Given the description of an element on the screen output the (x, y) to click on. 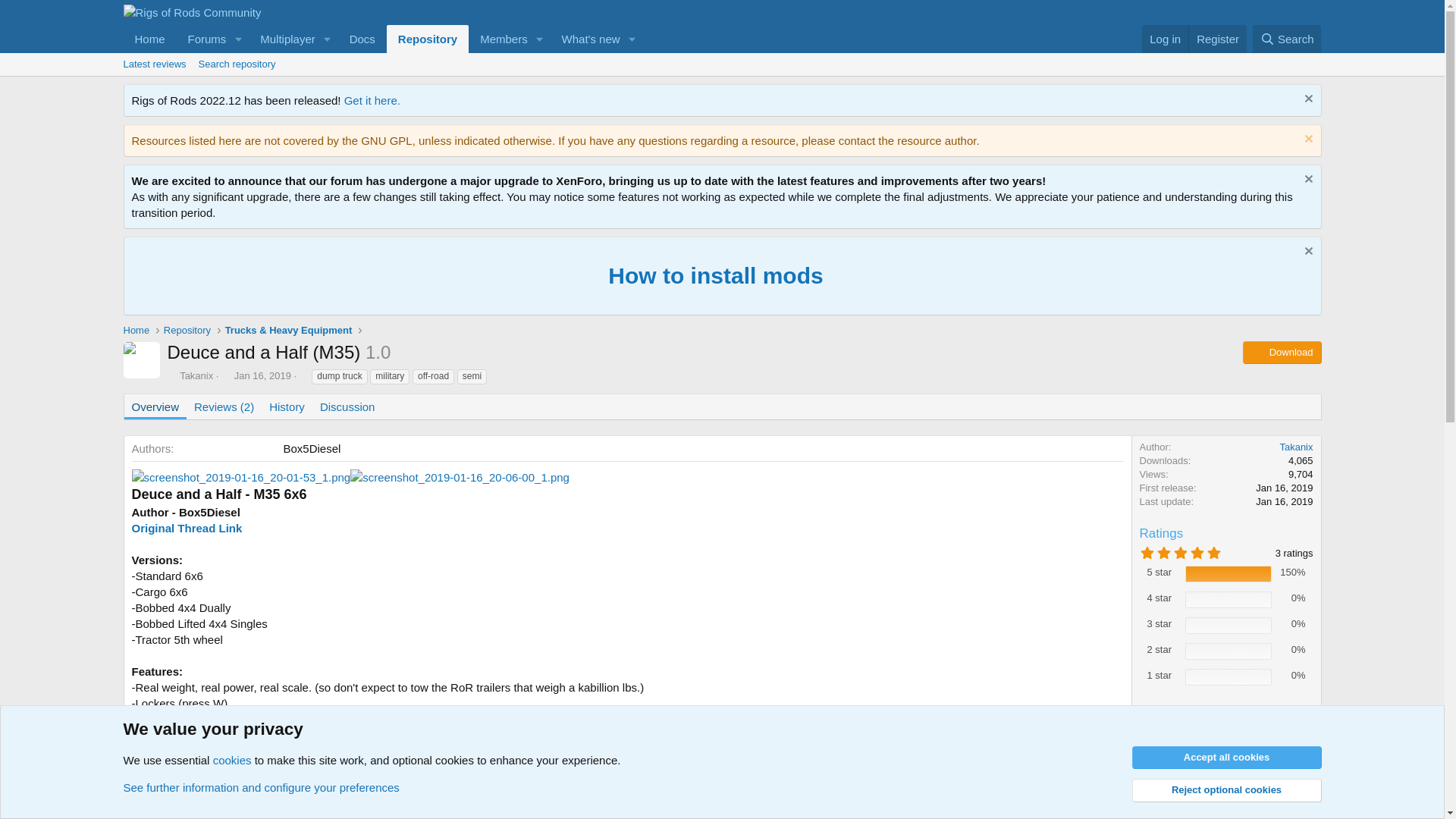
What's new (585, 39)
Docs (362, 39)
Repository (427, 39)
Jan 16, 2019 at 9:20 PM (1284, 487)
Tags (303, 375)
Forums (202, 39)
Jan 16, 2019 at 9:20 PM (1284, 501)
Latest reviews (154, 64)
Home (149, 39)
Members (498, 39)
